Given the description of an element on the screen output the (x, y) to click on. 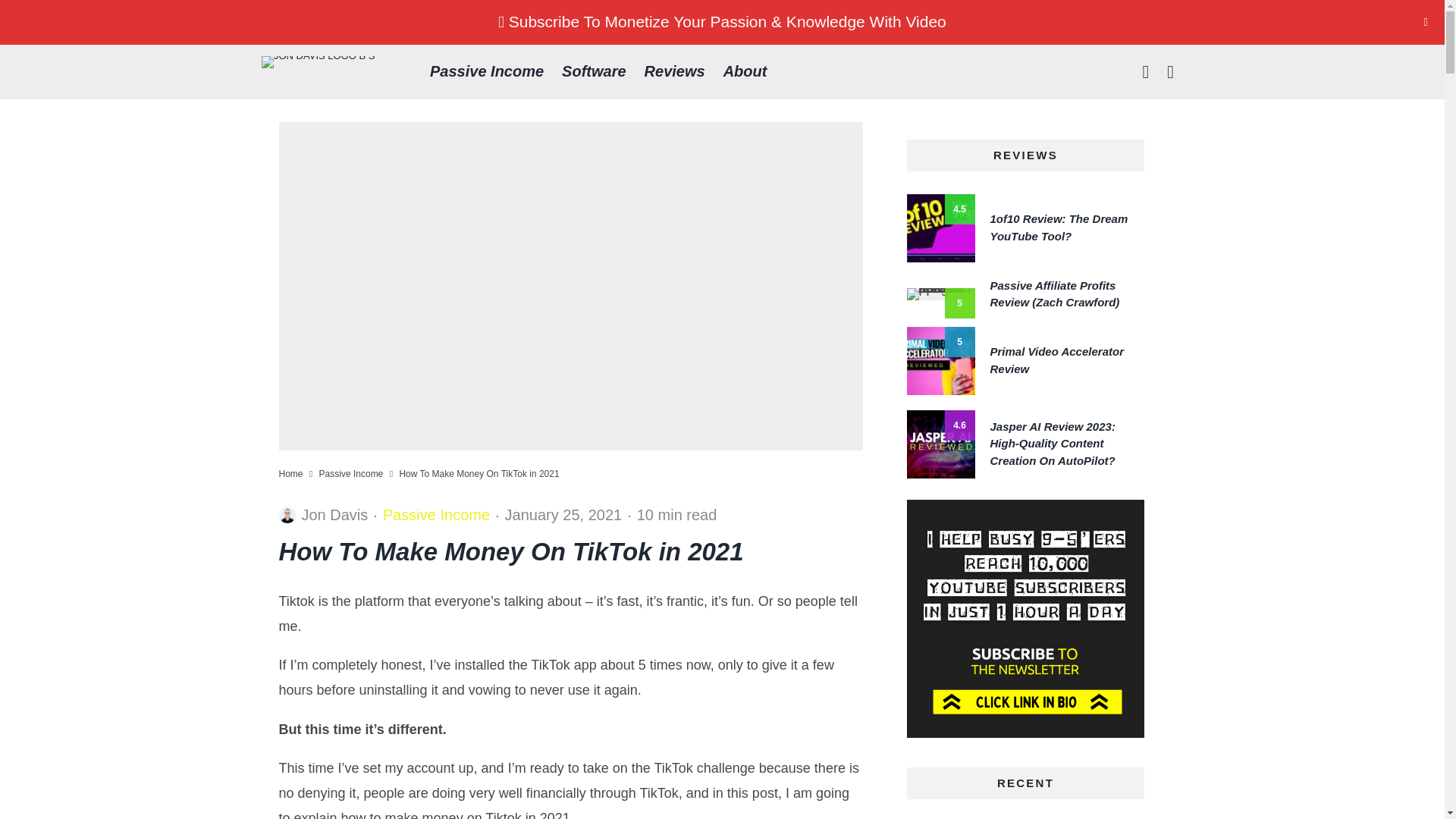
Reviews (674, 72)
Passive Income (486, 72)
About (745, 72)
Software (593, 72)
